Given the description of an element on the screen output the (x, y) to click on. 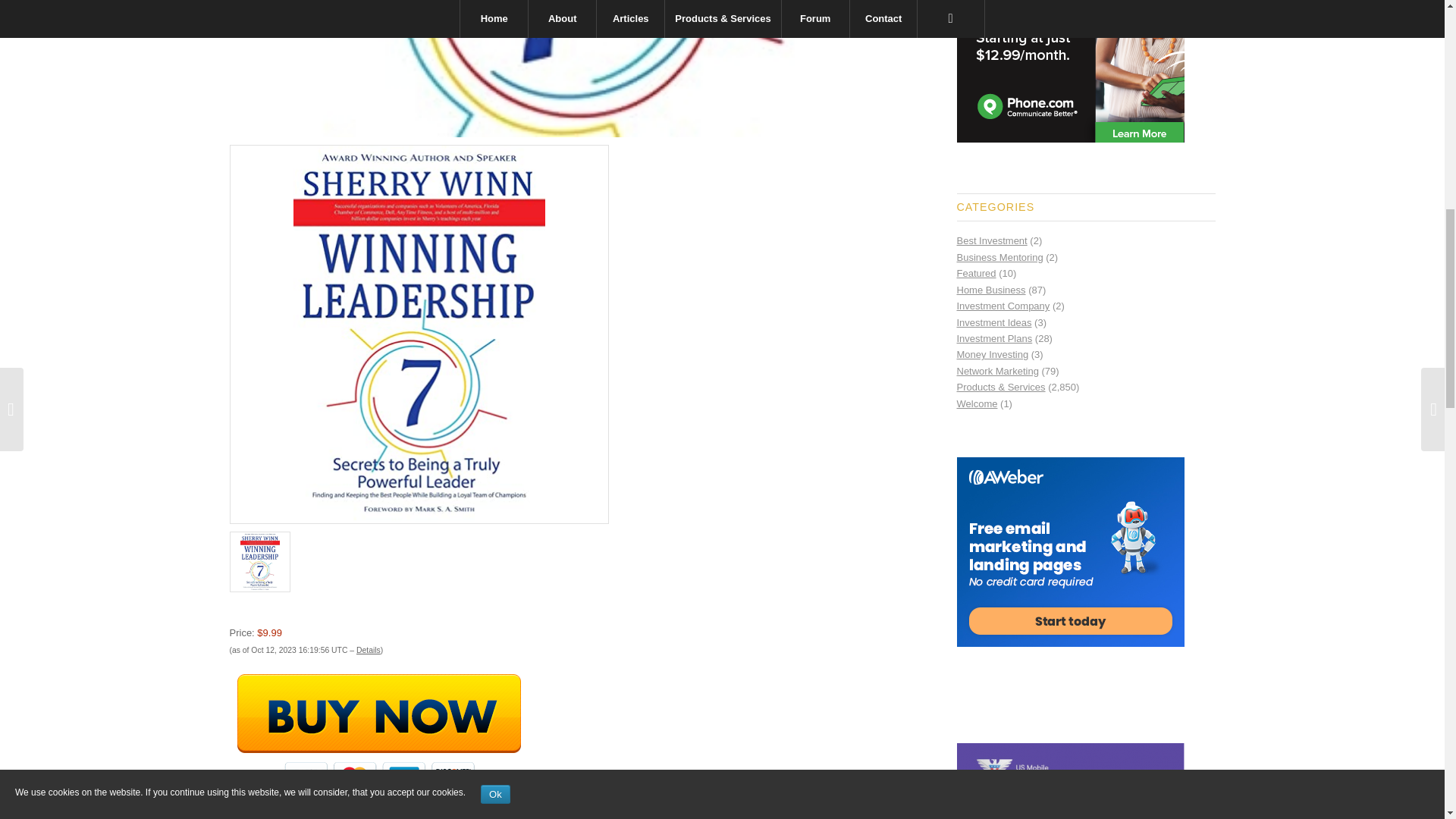
51CaxpyrTaL.jpg (554, 68)
